Given the description of an element on the screen output the (x, y) to click on. 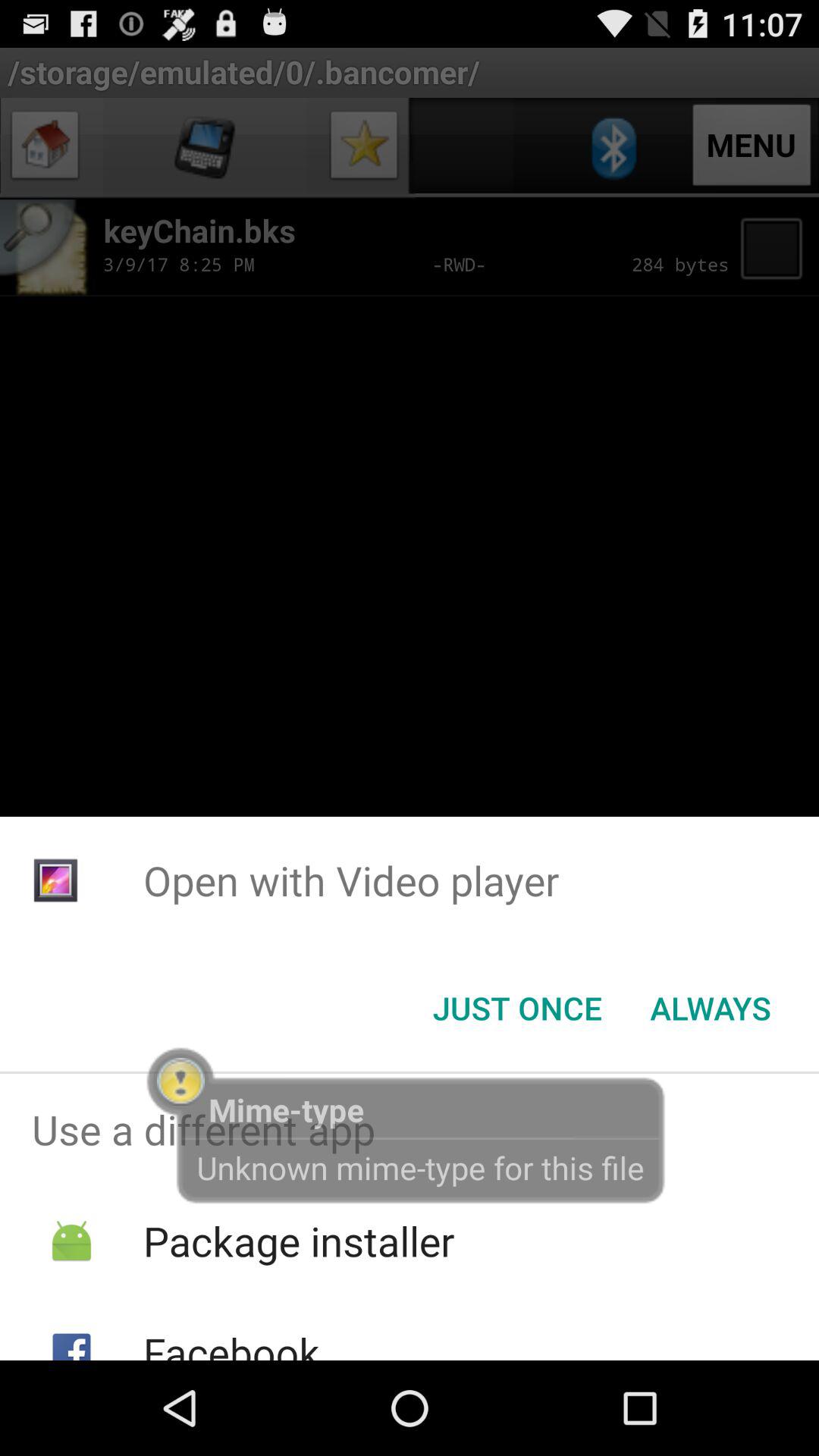
select icon above package installer app (409, 1129)
